Given the description of an element on the screen output the (x, y) to click on. 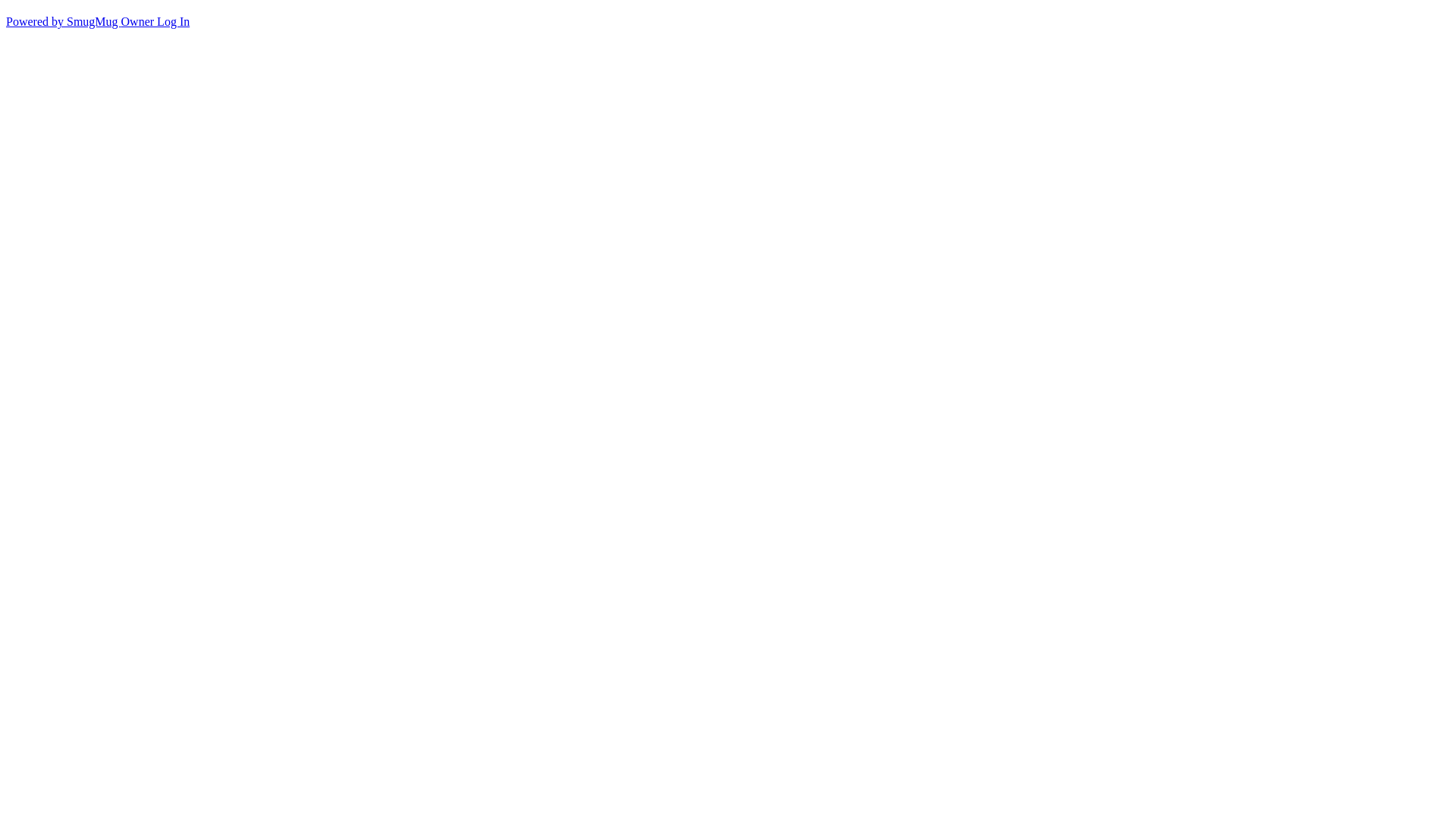
Owner Log In Element type: text (155, 21)
Powered by SmugMug Element type: text (63, 21)
